Given the description of an element on the screen output the (x, y) to click on. 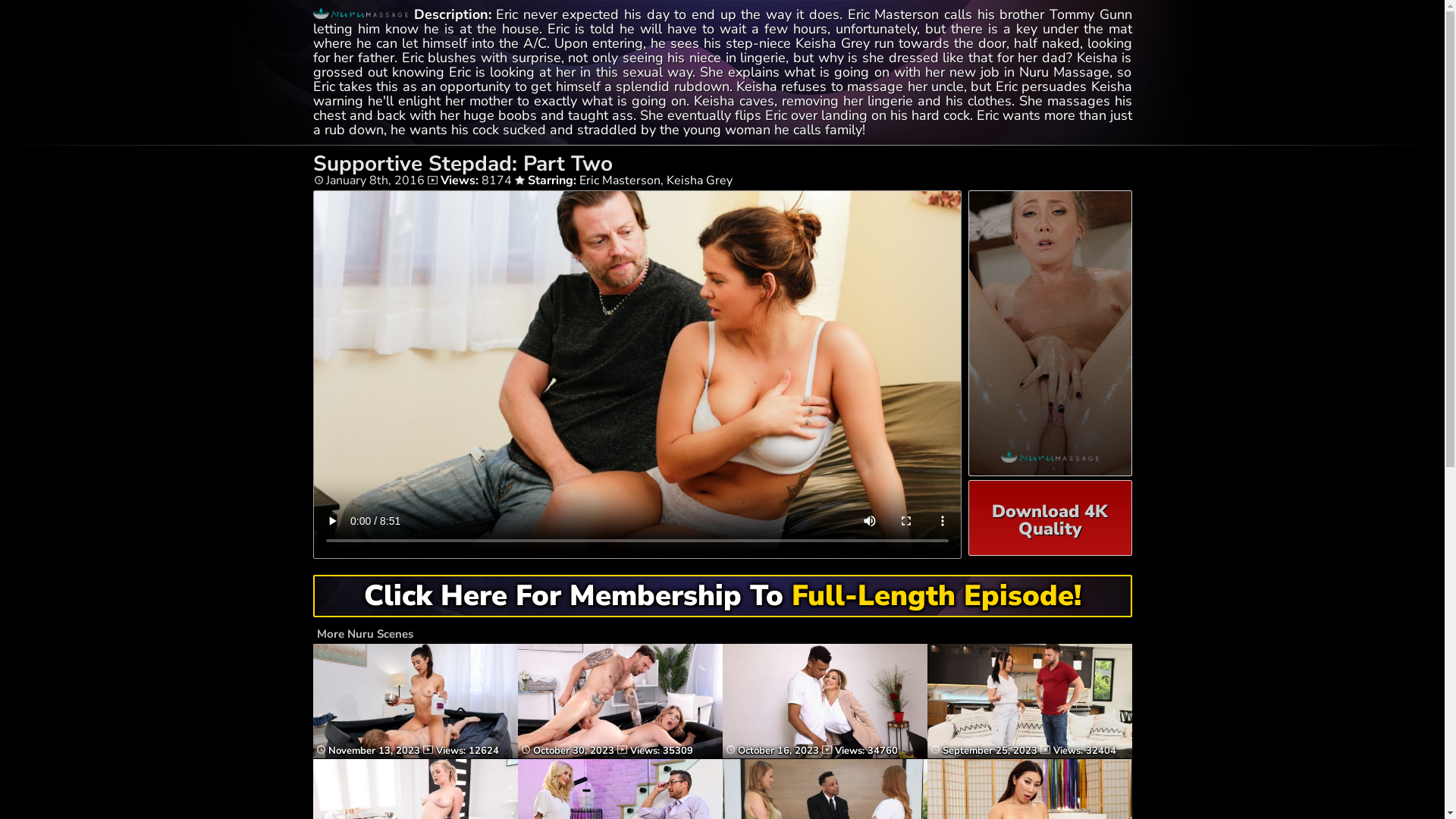
Click Here For Membership To Full-Length Episode! Element type: text (721, 600)
Strong Endorsement Element type: hover (1028, 755)
Keisha Grey Element type: text (698, 180)
Eric Masterson Element type: text (619, 180)
Click Here For Membership To Full-Length Episode! Element type: text (721, 595)
Ideal Athlete Retreat Element type: hover (619, 755)
Download 4K Quality Element type: text (1049, 517)
Quality Time With The In-Law Element type: hover (823, 755)
